Given the description of an element on the screen output the (x, y) to click on. 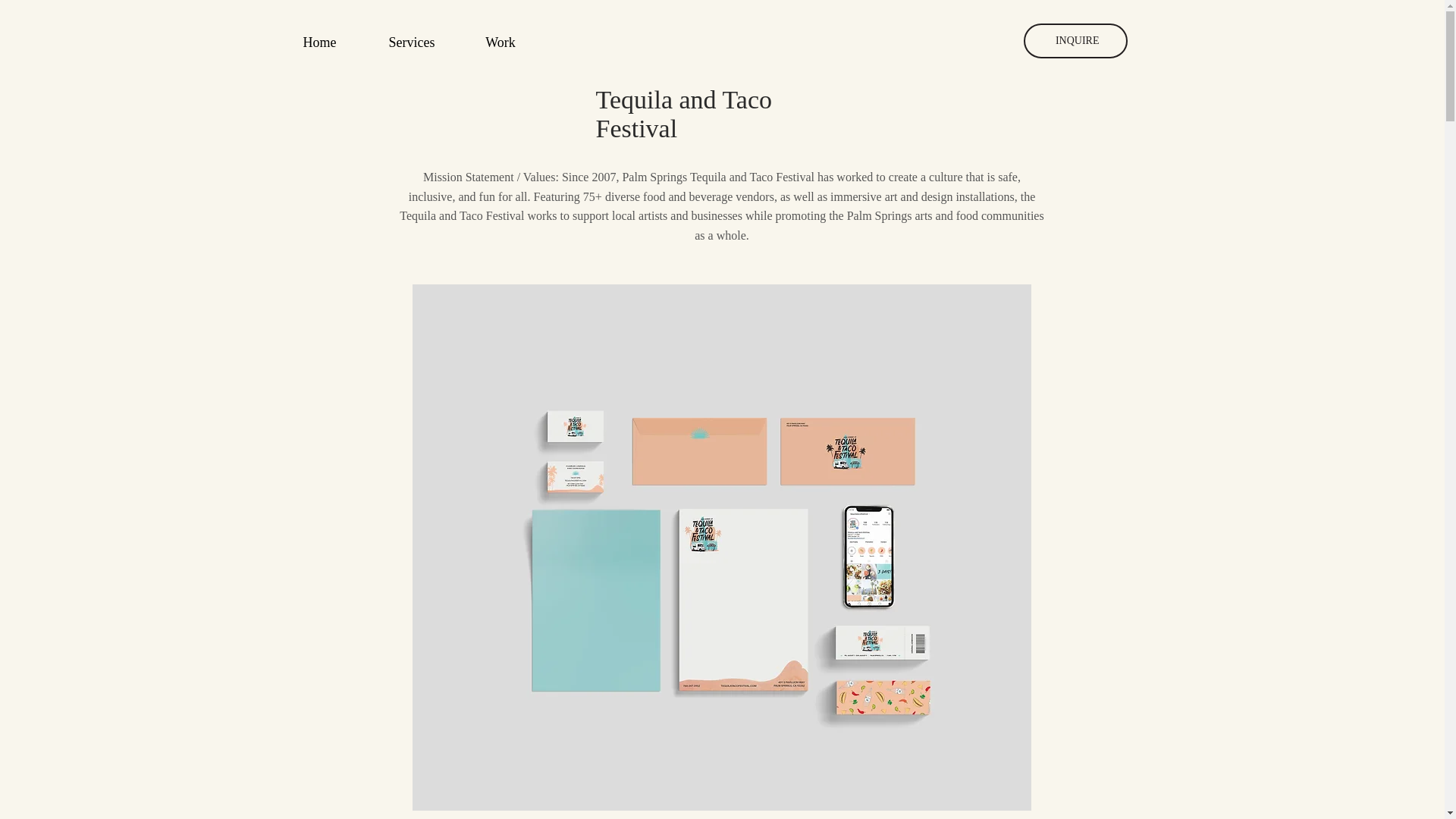
Work (500, 42)
INQUIRE (1074, 40)
Services (411, 42)
Home (319, 42)
